Given the description of an element on the screen output the (x, y) to click on. 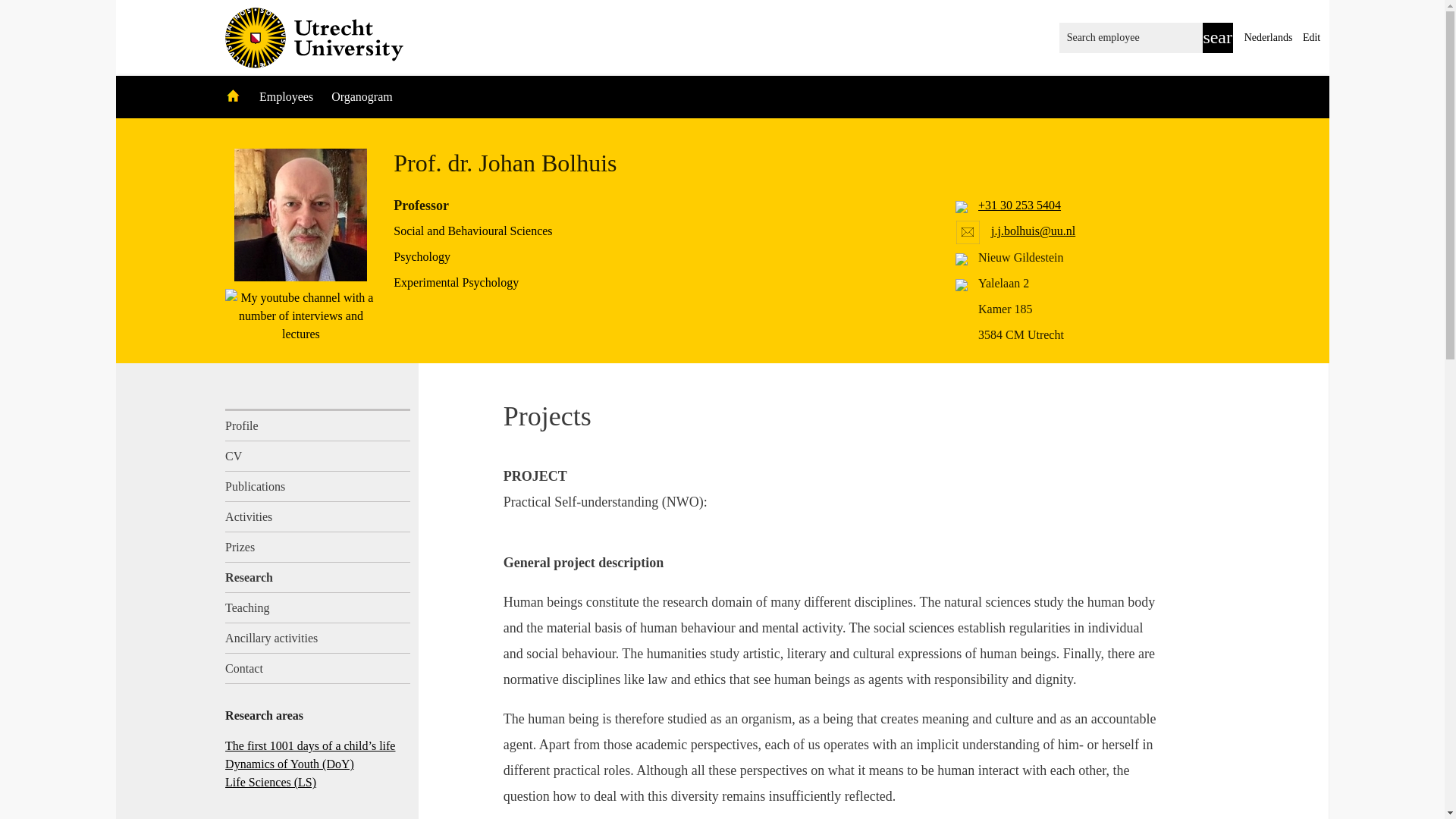
Activities (317, 517)
Employees (287, 96)
Teaching (317, 607)
My youtube channel with a number of interviews and lectures (301, 316)
Publications (317, 486)
Edit (1311, 37)
Prof. dr. Johan Bolhuis (300, 214)
Contact (317, 668)
CV (317, 456)
Organogram (362, 96)
Ancillary activities (317, 638)
Prizes (317, 547)
Research (317, 577)
Nederlands (1268, 37)
Experimental Psychology (455, 282)
